Given the description of an element on the screen output the (x, y) to click on. 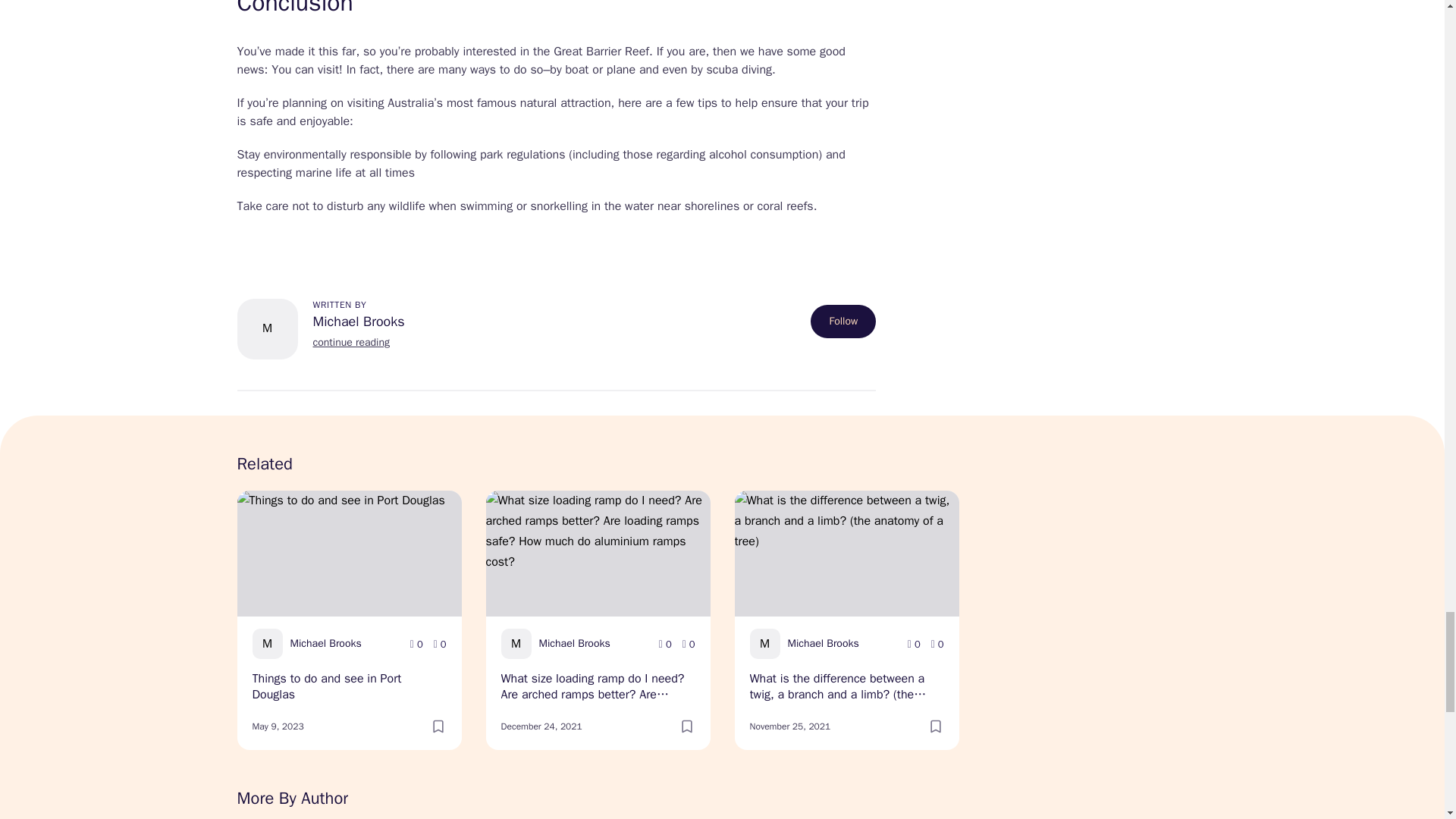
Comment (937, 644)
continue reading (350, 341)
Michael Brooks (358, 321)
View (665, 644)
View (913, 644)
View (416, 644)
Follow (843, 321)
Comment (439, 644)
Comment (688, 644)
